Given the description of an element on the screen output the (x, y) to click on. 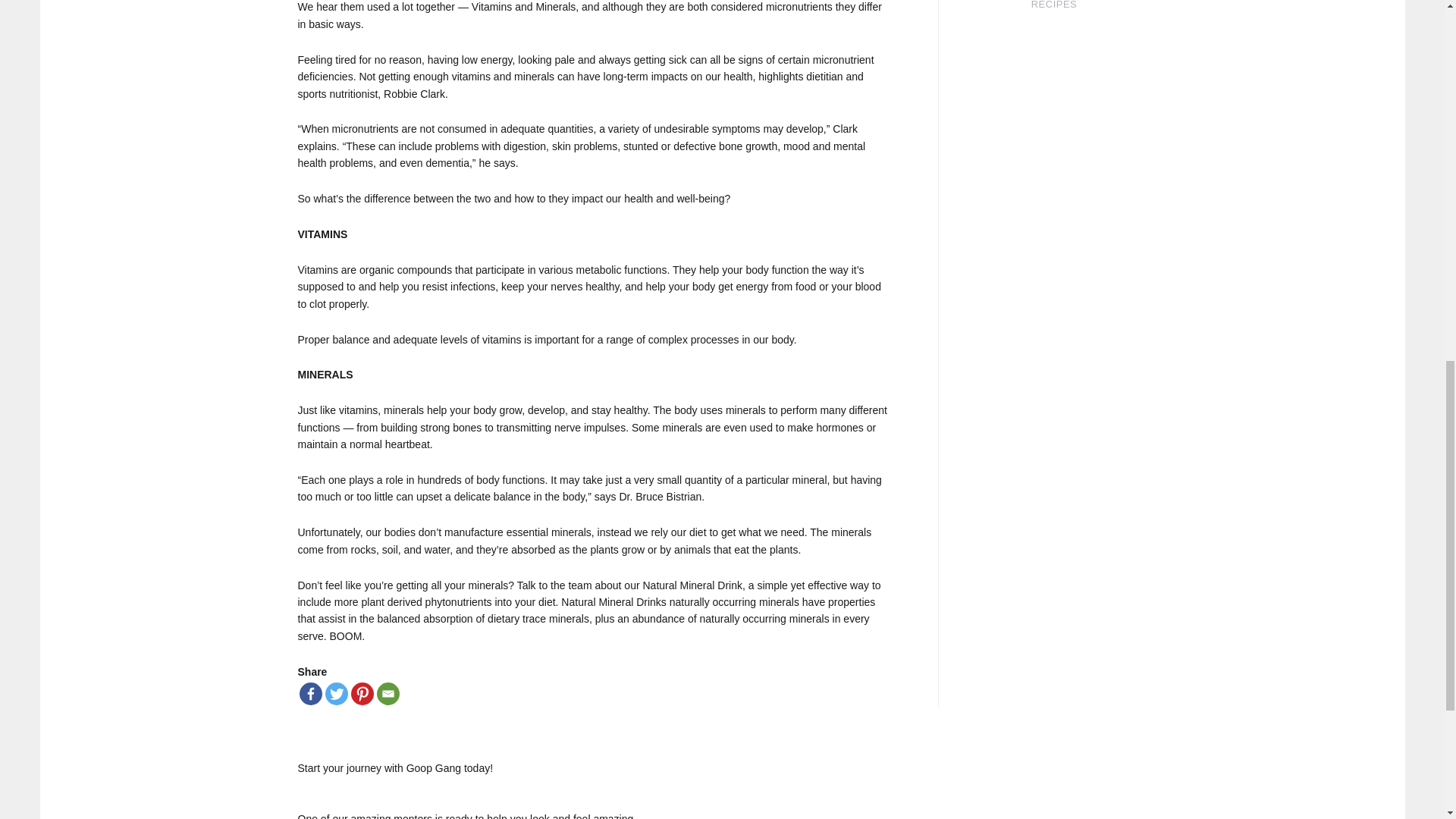
Facebook (309, 693)
Email (386, 693)
RECIPES (1053, 4)
Pinterest (361, 693)
Twitter (335, 693)
